Given the description of an element on the screen output the (x, y) to click on. 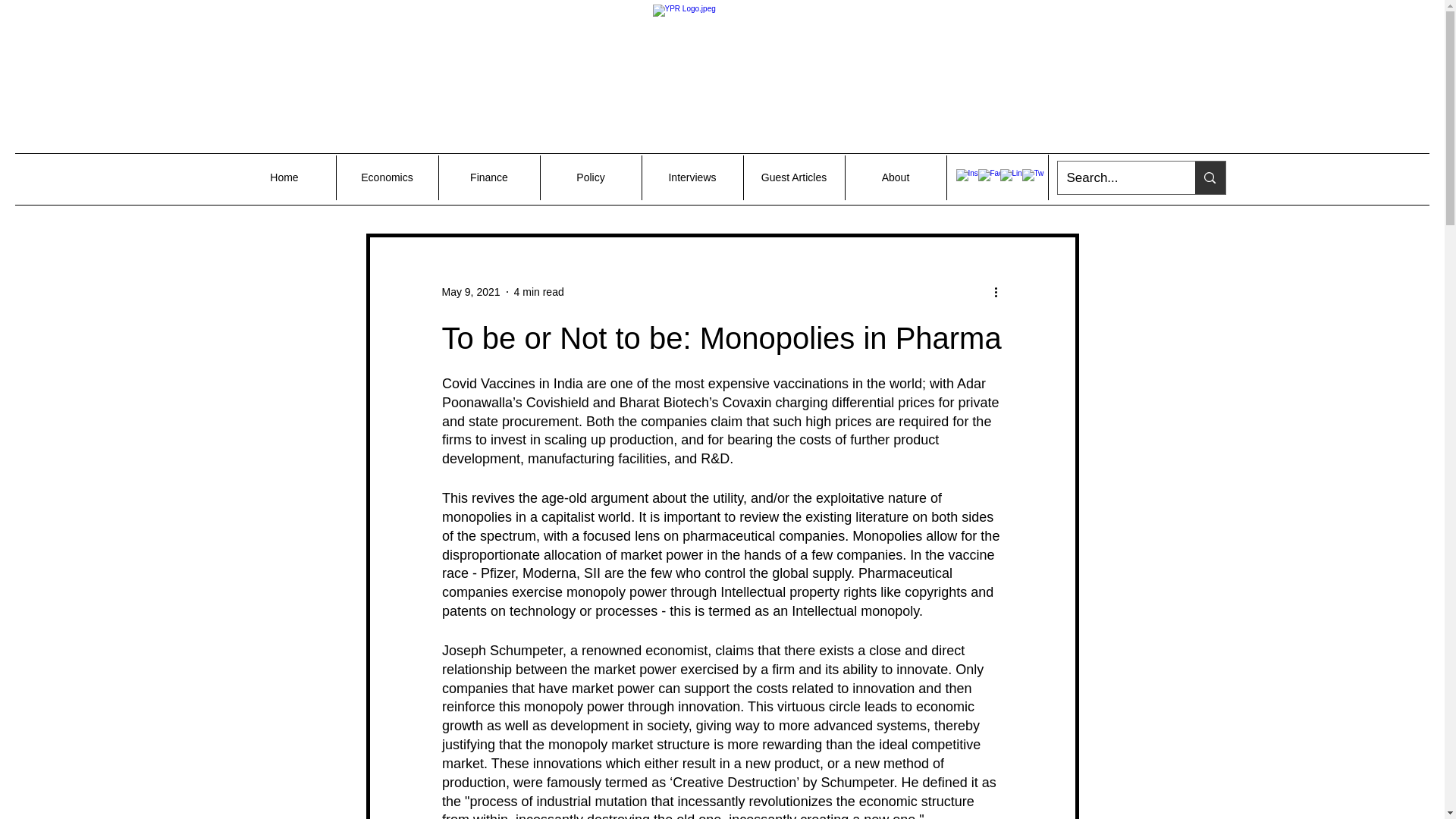
Finance (489, 177)
Policy (591, 177)
Economics (386, 177)
Home (284, 177)
4 min read (538, 291)
About (895, 177)
May 9, 2021 (470, 291)
Interviews (692, 177)
Guest Articles (793, 177)
